Given the description of an element on the screen output the (x, y) to click on. 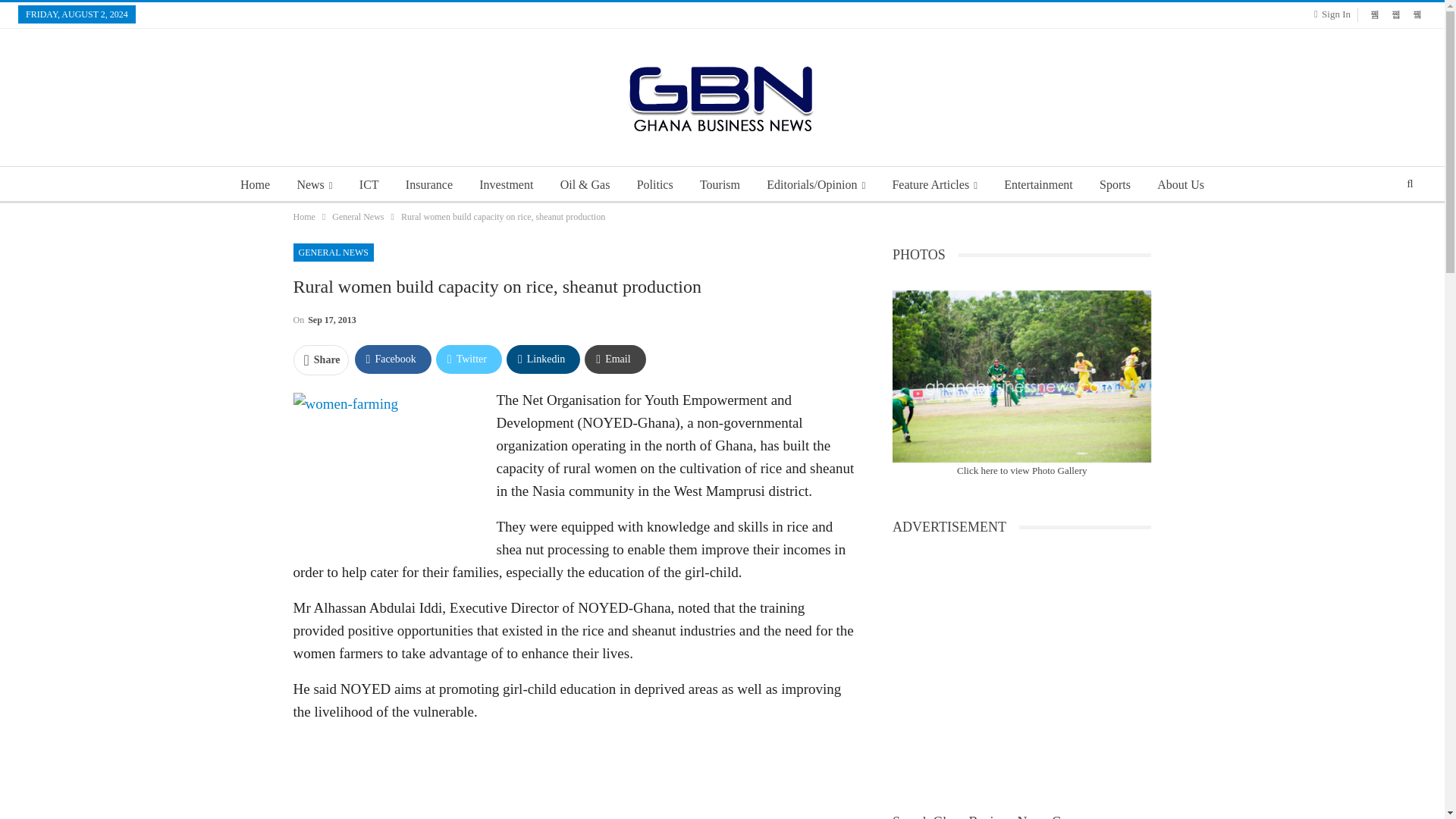
Email (615, 358)
About Us (1180, 185)
Entertainment (1037, 185)
Insurance (428, 185)
Click here to view Photo Gallery (1021, 470)
Sign In (1335, 13)
Politics (654, 185)
News (313, 185)
Home (255, 185)
Home (303, 216)
Linkedin (542, 358)
General News (357, 216)
Investment (505, 185)
Twitter (468, 358)
Tourism (719, 185)
